Given the description of an element on the screen output the (x, y) to click on. 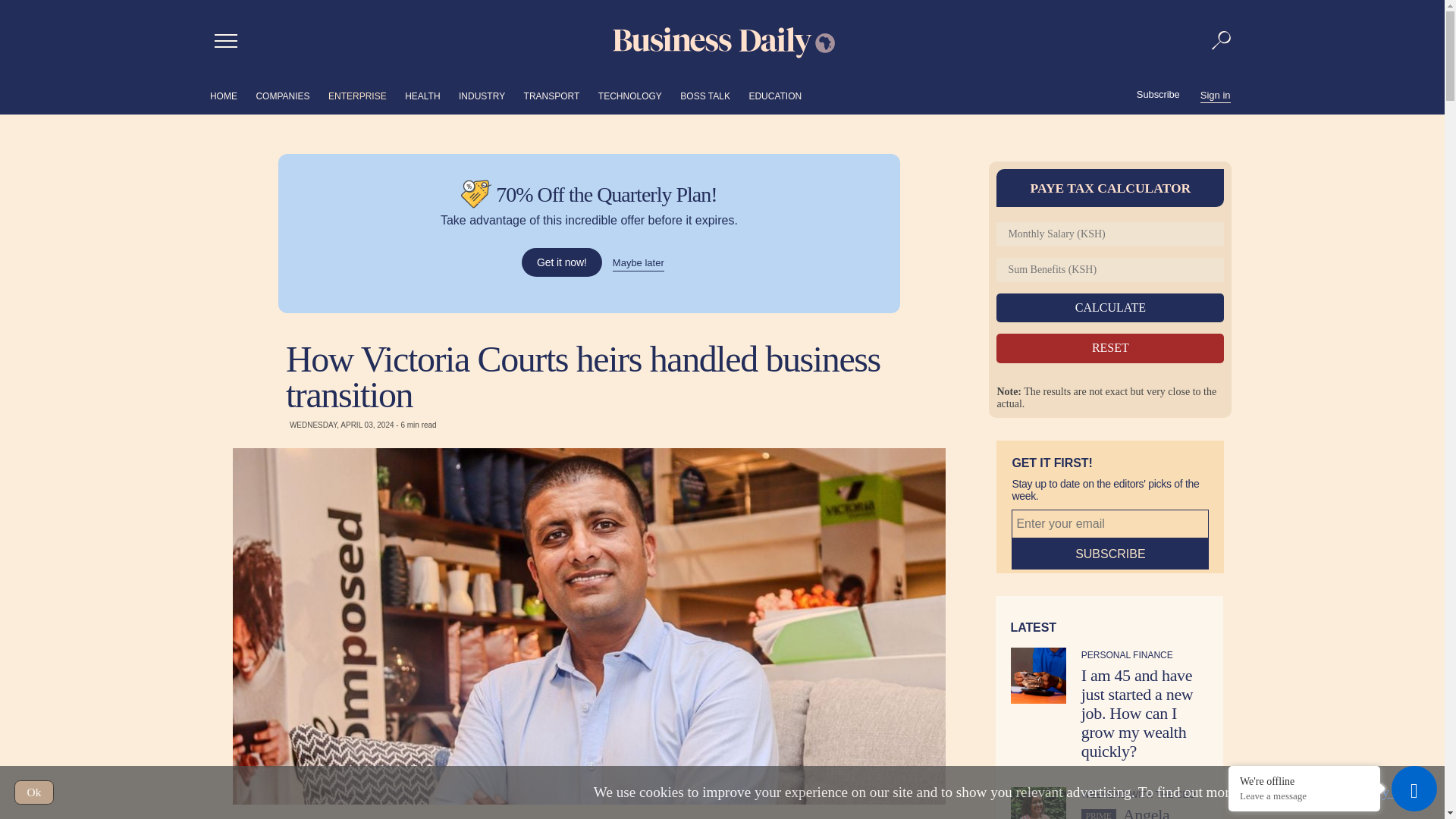
HOME (223, 95)
TRANSPORT (551, 95)
Privacy Policy (1386, 791)
EDUCATION (775, 95)
PRIME (1098, 814)
Privacy Policy (1386, 791)
Subscribe (1157, 94)
Ok (33, 792)
Subscribe (1109, 553)
ENTERPRISE (358, 95)
Sign in (1214, 94)
HEALTH (421, 95)
BOSS TALK (704, 95)
COMPANIES (282, 95)
INDUSTRY (481, 95)
